Given the description of an element on the screen output the (x, y) to click on. 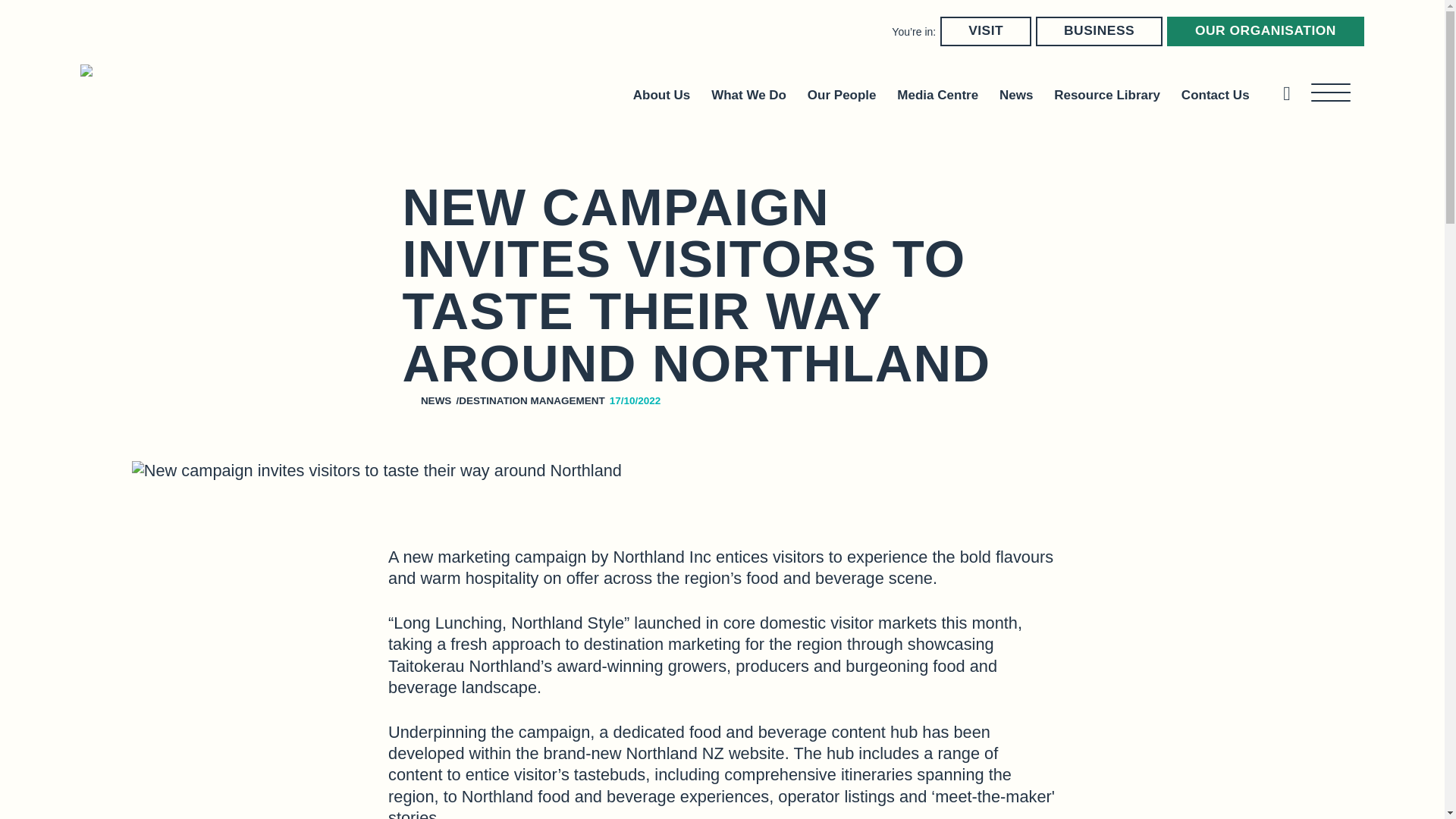
VISIT (985, 30)
About Us (661, 94)
News (1015, 94)
Contact Us (1214, 94)
BUSINESS (1098, 30)
Media Centre (937, 94)
Resource Library (1107, 94)
What We Do (748, 94)
OUR ORGANISATION (1265, 30)
Our People (842, 94)
